Given the description of an element on the screen output the (x, y) to click on. 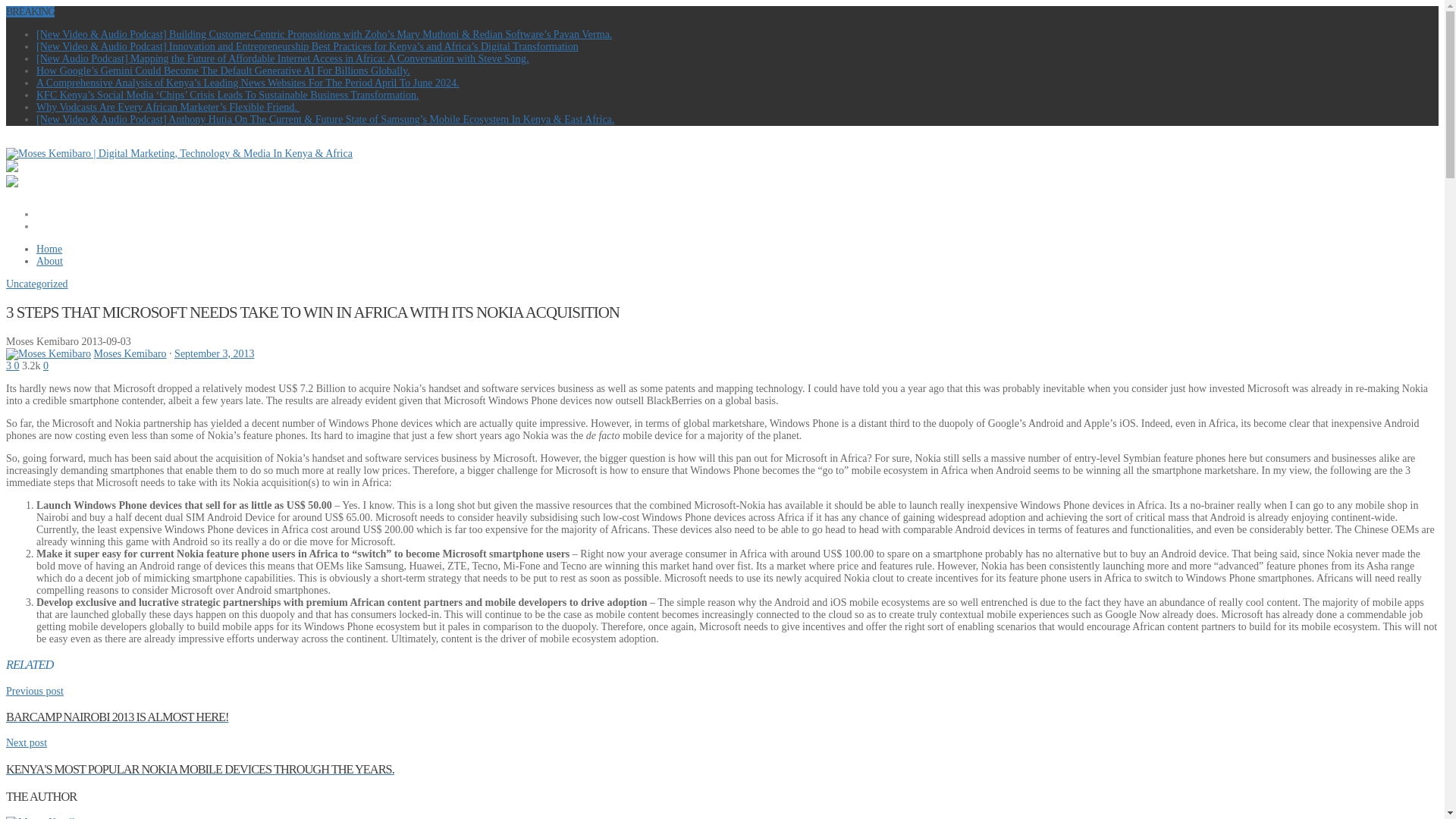
Views (30, 365)
About (50, 225)
Home (49, 248)
Home (50, 214)
September 3, 2013 (213, 353)
Posts by Moses Kemibaro (47, 817)
View all posts by Moses Kemibaro (130, 353)
About (49, 260)
Moses Kemibaro (130, 353)
Uncategorized (36, 283)
